Given the description of an element on the screen output the (x, y) to click on. 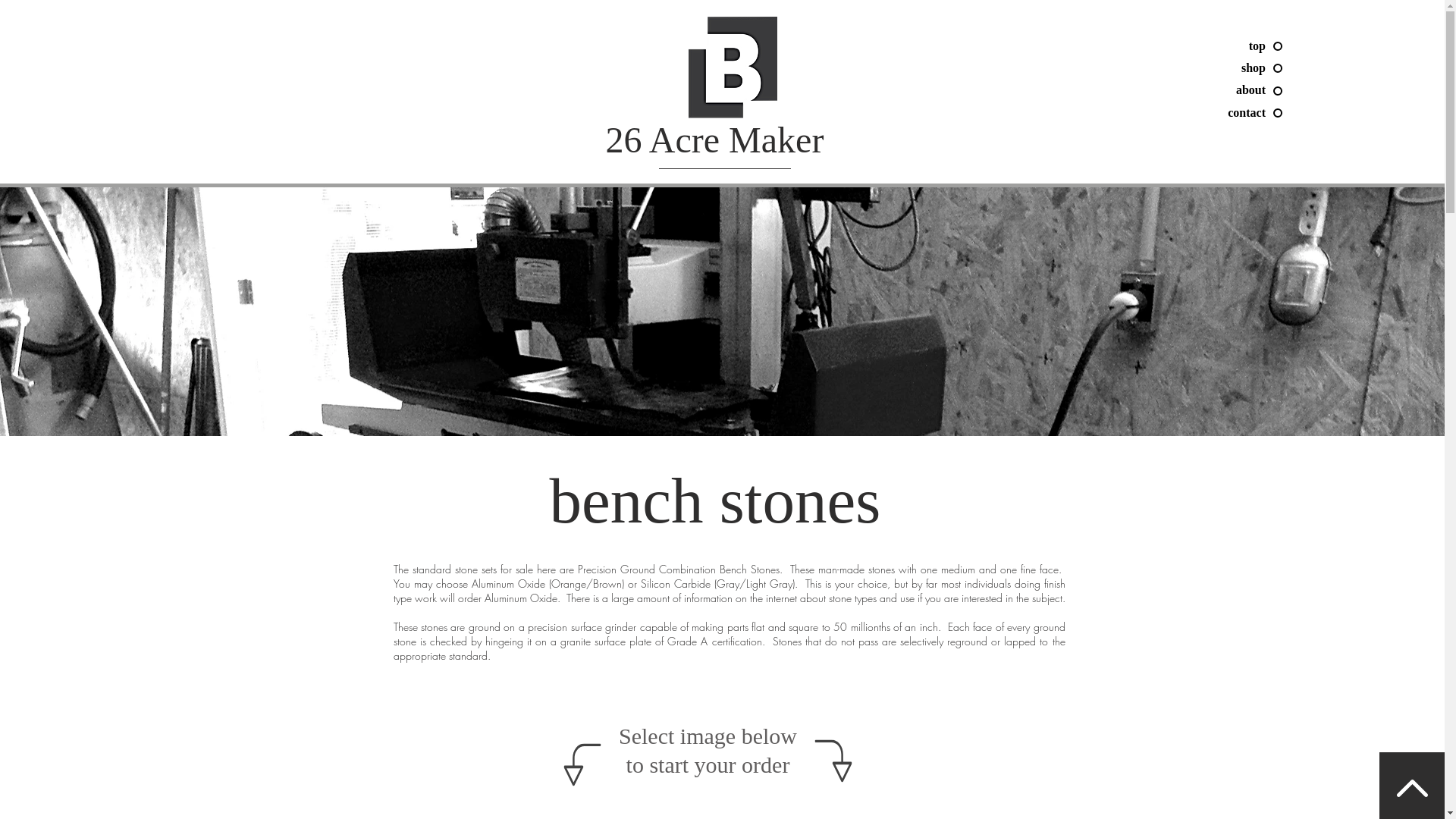
top Element type: text (1167, 45)
about Element type: text (1167, 89)
shop Element type: text (1167, 67)
contact Element type: text (1167, 112)
